Given the description of an element on the screen output the (x, y) to click on. 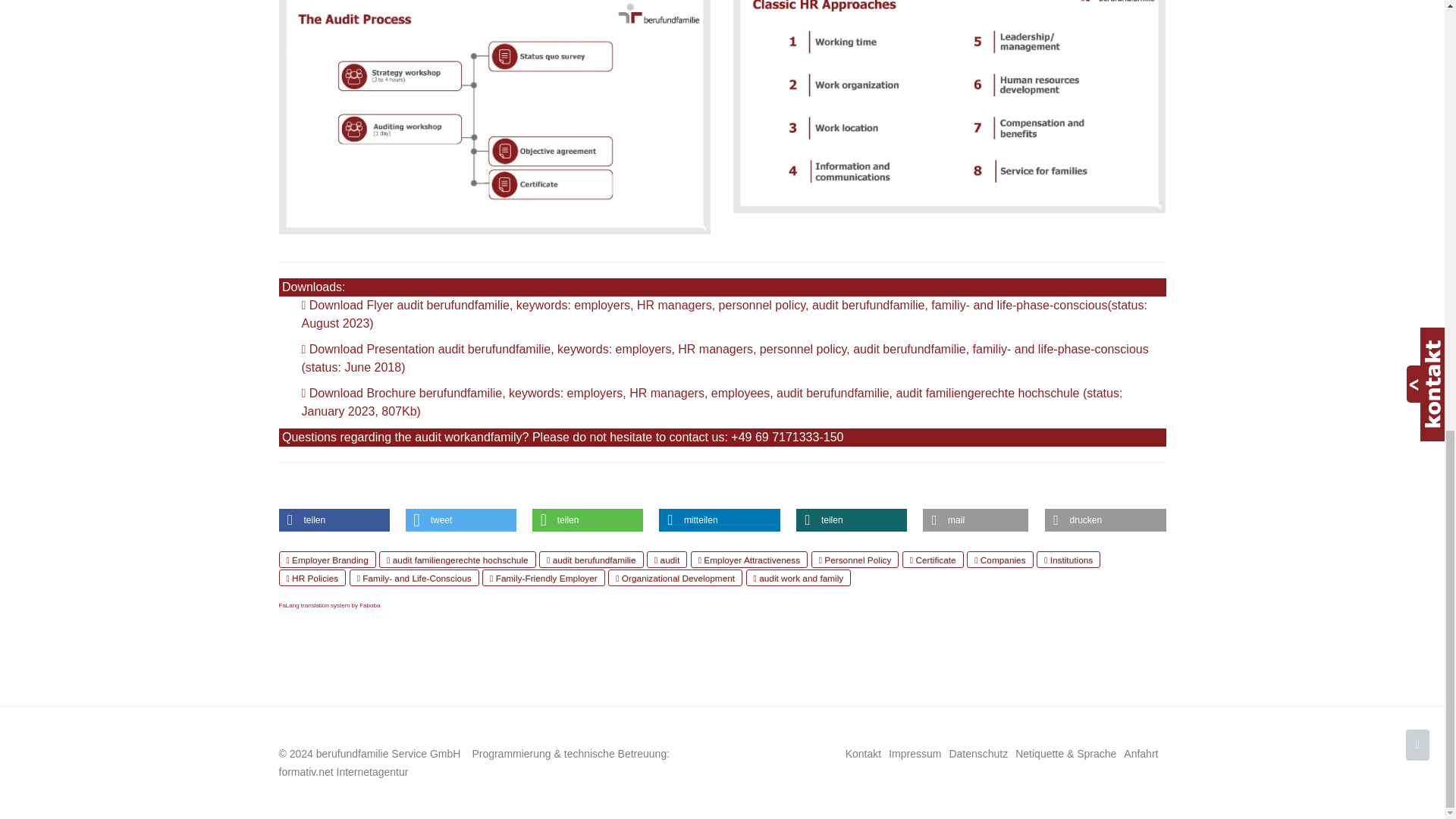
Download Presentation audit berufundfamilie (724, 358)
Bei Whatsapp teilen (587, 519)
Bei Twitter teilen (461, 519)
Bei LinkedIn teilen (719, 519)
Schematic procedure in the audit (495, 117)
Bei Facebook teilen (334, 519)
drucken (1105, 519)
Download Brochure berufundfamilie (711, 401)
Per E-Mail versenden (975, 519)
